Given the description of an element on the screen output the (x, y) to click on. 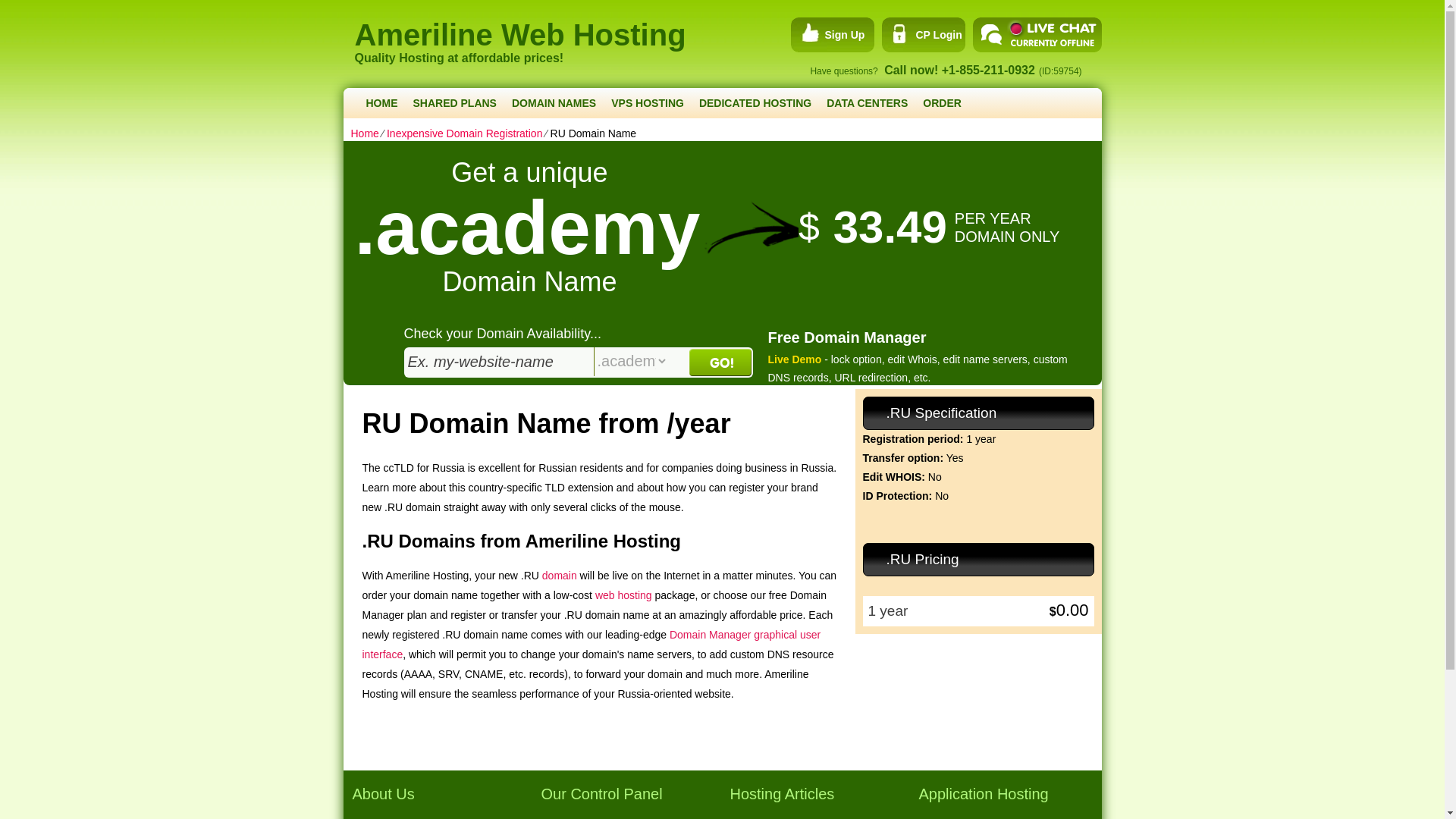
Domain Manager graphical user interface (591, 644)
HOME (381, 102)
Live chat offline (1036, 34)
ORDER (942, 102)
client login (920, 34)
sign up (827, 34)
text (498, 361)
SHARED PLANS (453, 102)
DATA CENTERS (866, 102)
Ameriline Web Hosting (572, 26)
VPS HOSTING (647, 102)
Live Demo (794, 358)
domain (558, 575)
DOMAIN NAMES (553, 102)
DEDICATED HOSTING (754, 102)
